Given the description of an element on the screen output the (x, y) to click on. 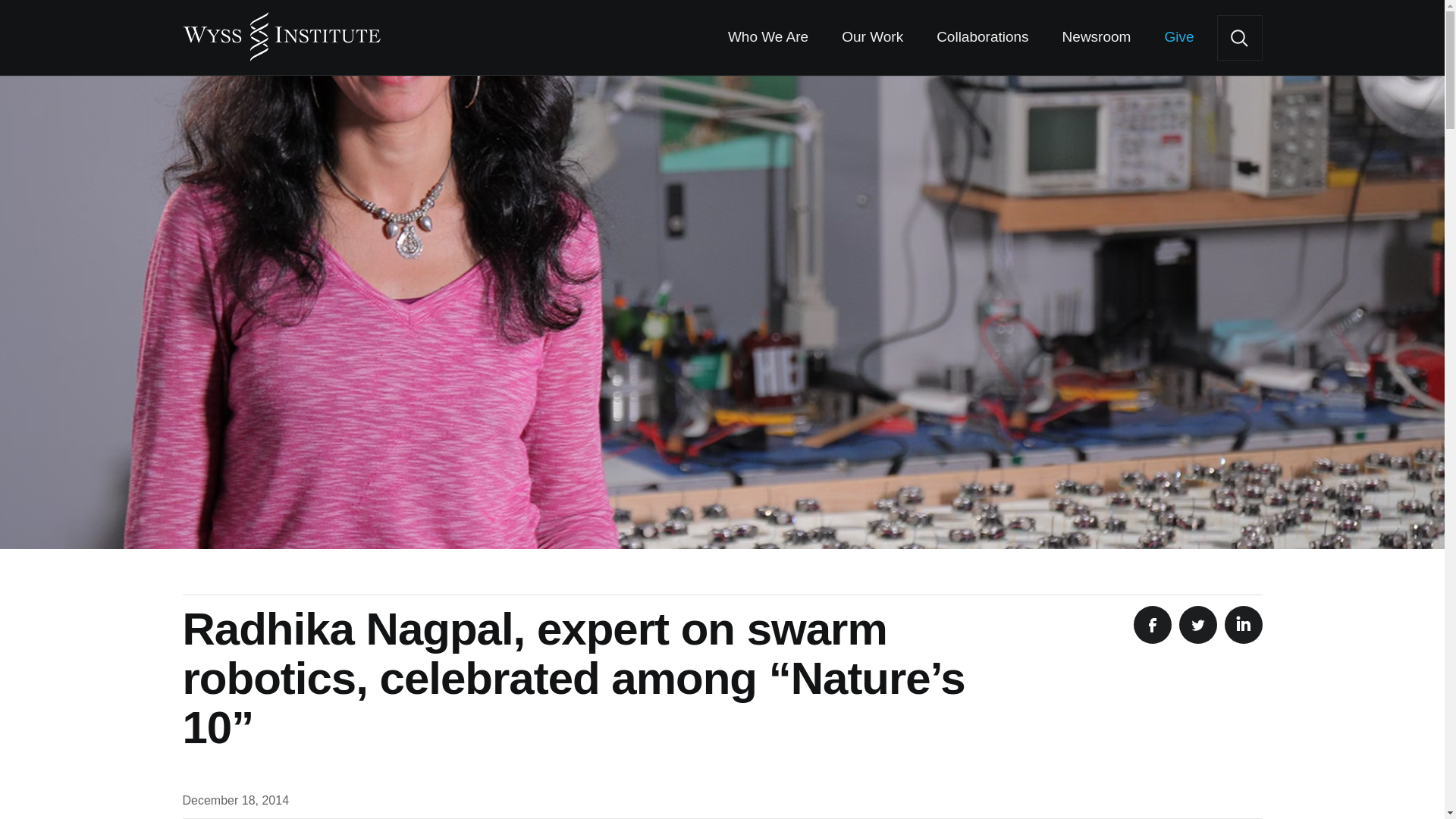
Twitter (1196, 624)
Wyss Institute (281, 30)
Newsroom (1096, 38)
Search Site (1238, 37)
Who We Are (768, 38)
Linked in (1243, 624)
Wyss Institute (281, 30)
Collaborations (981, 38)
Facebook (1151, 624)
